Given the description of an element on the screen output the (x, y) to click on. 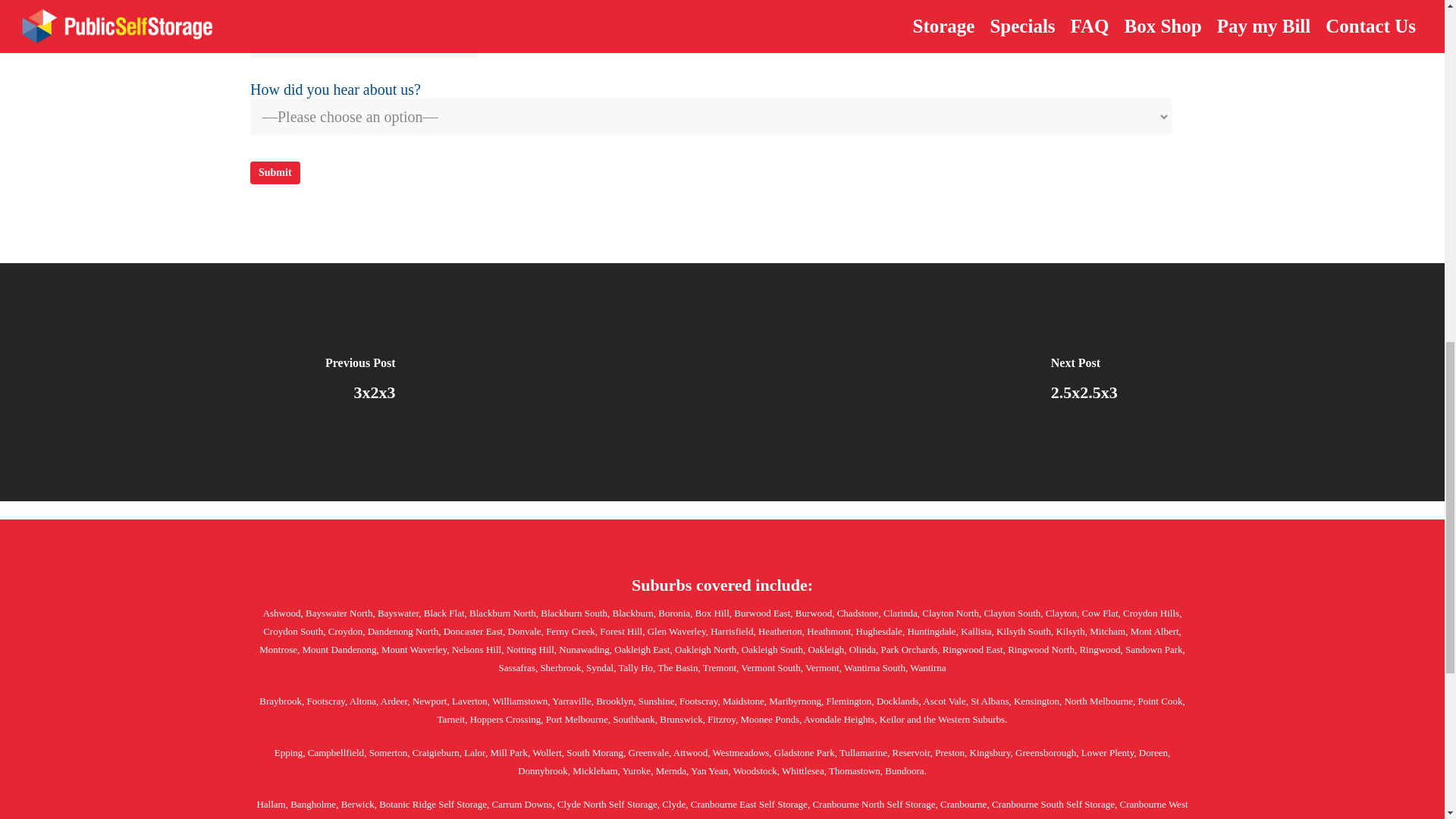
Clayton North (949, 613)
Black Flat (443, 613)
Blackburn (632, 613)
Bayswater North (338, 613)
Ashwood (282, 613)
Blackburn South (573, 613)
Boronia (674, 613)
Burwood (812, 613)
Box Hill (712, 613)
Burwood East (761, 613)
Submit (274, 172)
Submit (274, 172)
Chadstone (858, 613)
Blackburn North (501, 613)
Clarinda (900, 613)
